Given the description of an element on the screen output the (x, y) to click on. 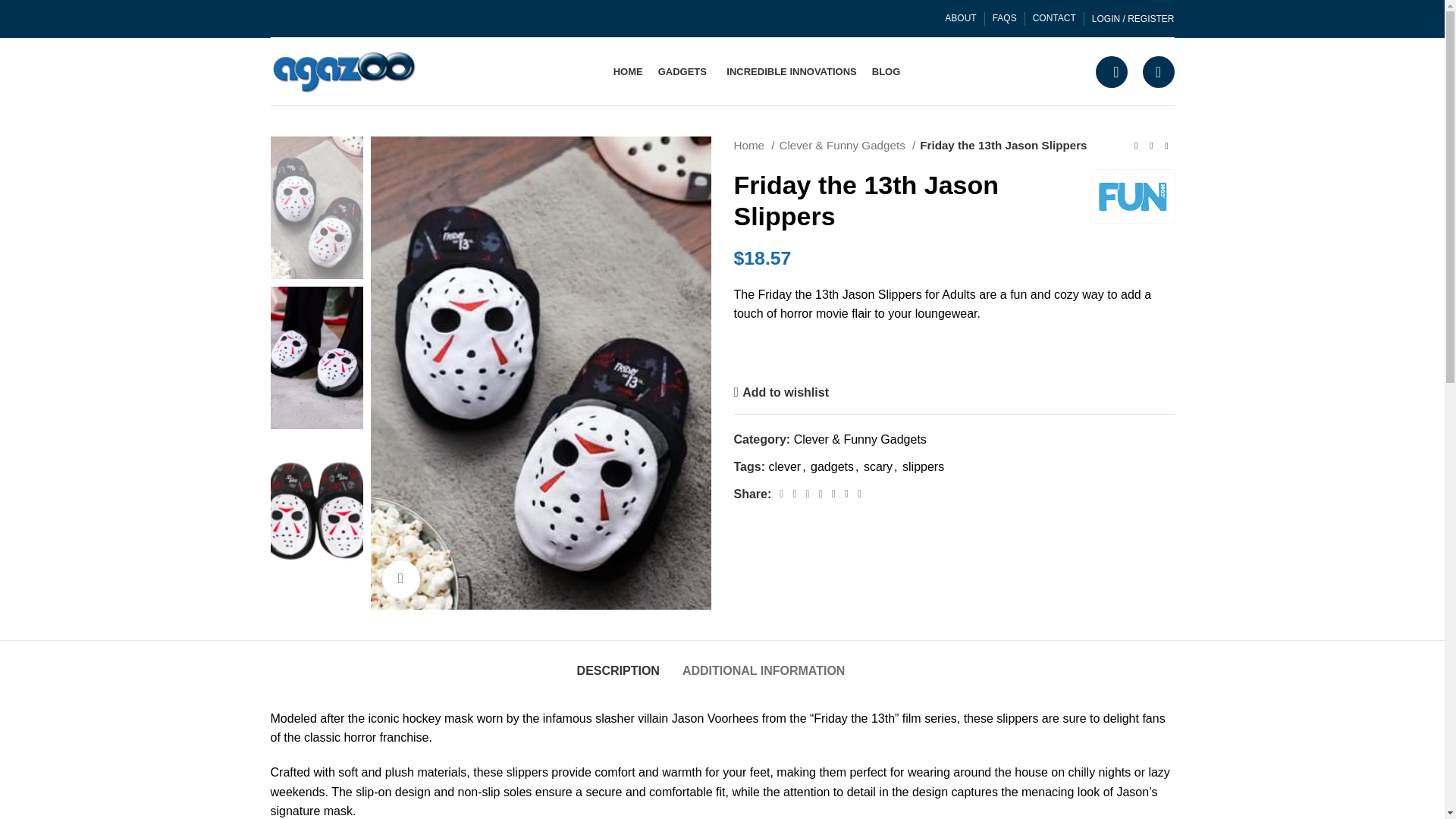
My Wishlist (1157, 71)
HOME (627, 71)
Fun (1131, 196)
CONTACT (1053, 18)
Home (753, 145)
My account (1133, 18)
slippers (922, 466)
clever (784, 466)
gadgets (831, 466)
GADGETS (684, 71)
BLOG (886, 71)
ABOUT (959, 18)
GET IT! (766, 355)
Search (1110, 71)
Add to wishlist (780, 392)
